Given the description of an element on the screen output the (x, y) to click on. 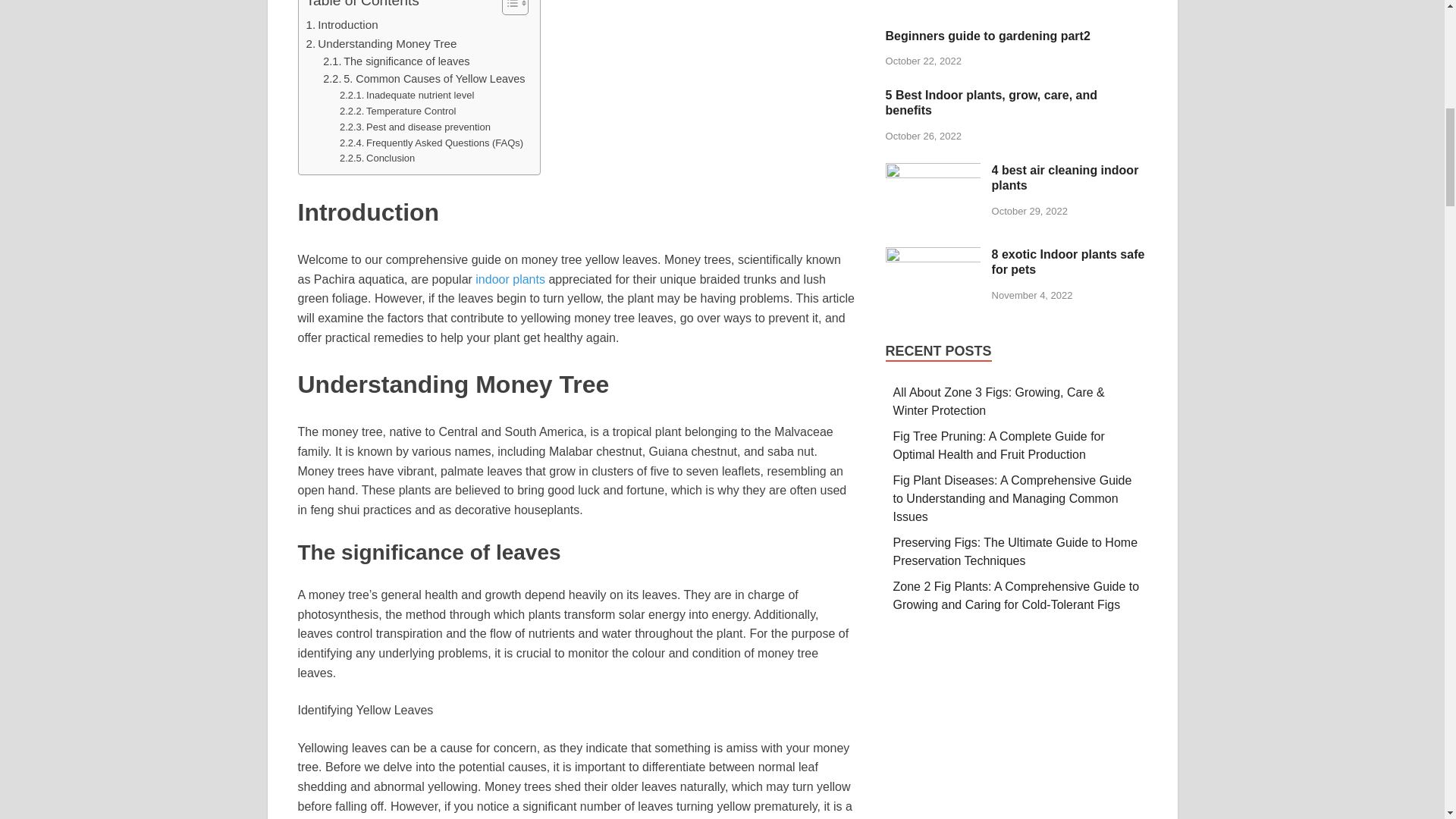
5. Common Causes of Yellow Leaves (423, 78)
Introduction (341, 24)
Conclusion (376, 158)
Inadequate nutrient level (406, 95)
The significance of leaves (395, 61)
Pest and disease prevention (414, 127)
Conclusion (376, 158)
Temperature Control (397, 111)
Introduction (341, 24)
Temperature Control (397, 111)
